Given the description of an element on the screen output the (x, y) to click on. 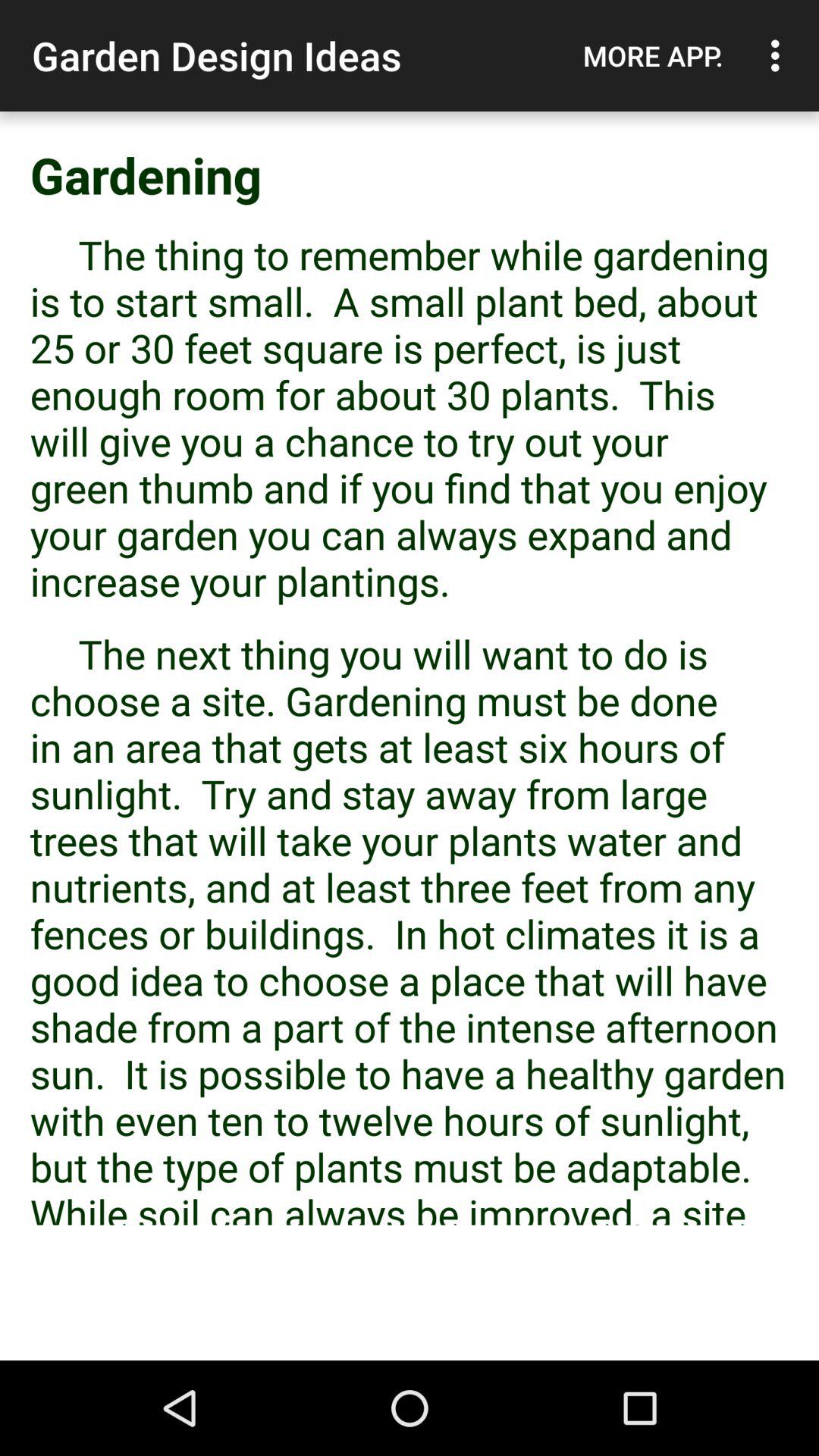
flip to the more app. item (653, 55)
